Given the description of an element on the screen output the (x, y) to click on. 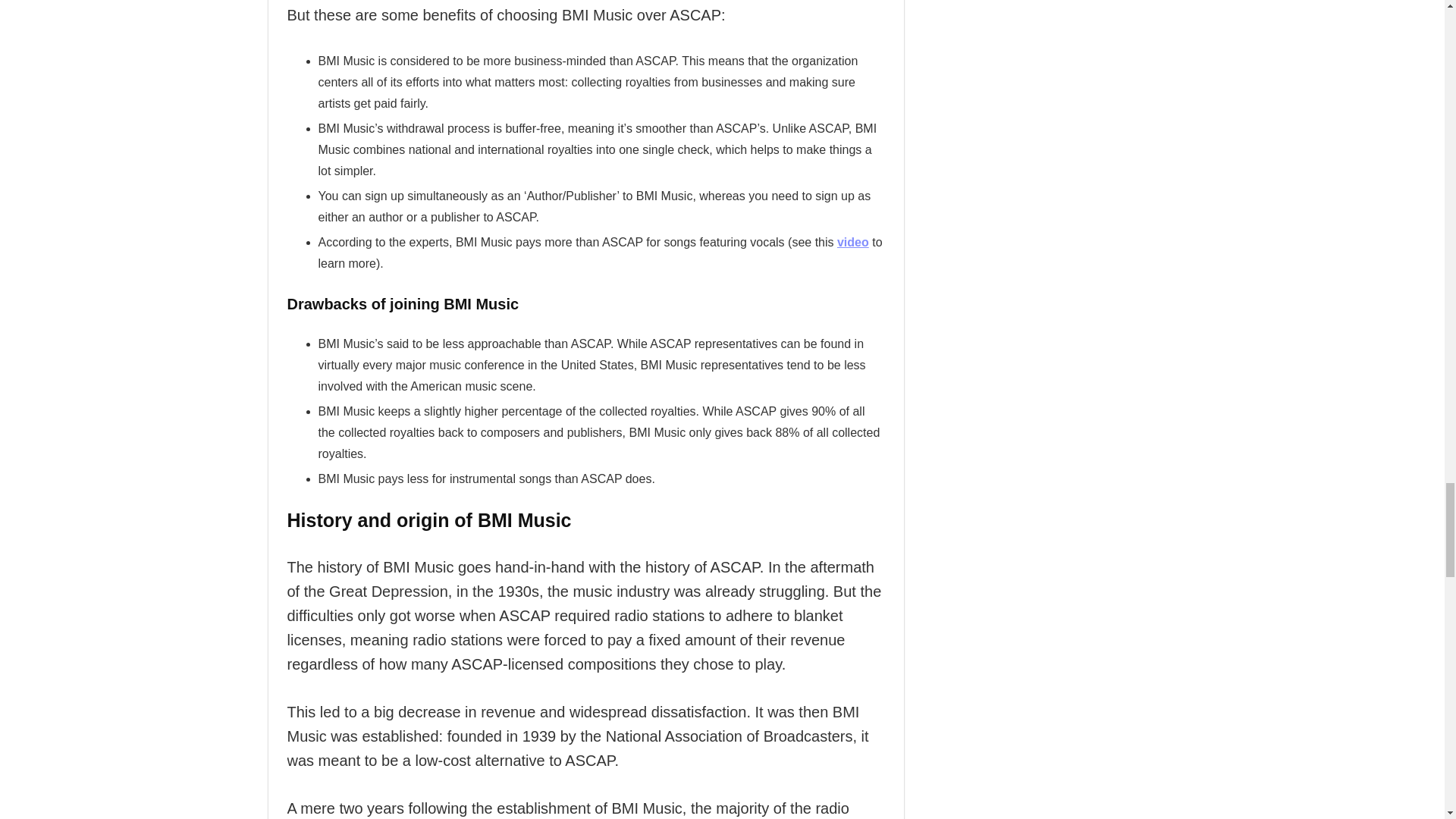
video (853, 241)
